Given the description of an element on the screen output the (x, y) to click on. 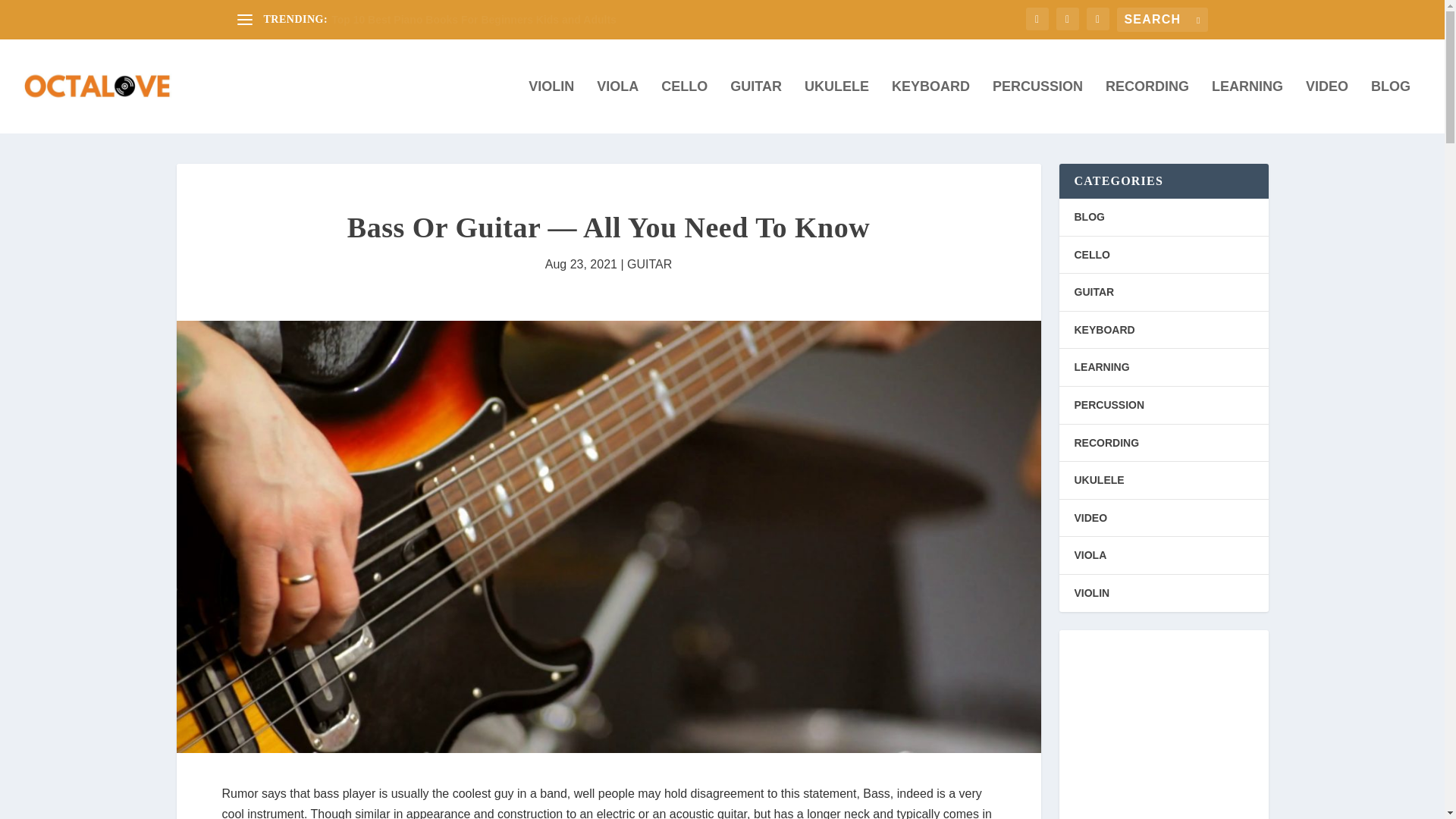
GUITAR (649, 264)
Search for: (1161, 19)
LEARNING (1246, 106)
UKULELE (837, 106)
RECORDING (1147, 106)
PERCUSSION (1037, 106)
Top 10 Best Piano Books For Beginners Kids and Adults (473, 19)
KEYBOARD (930, 106)
GUITAR (755, 106)
